Given the description of an element on the screen output the (x, y) to click on. 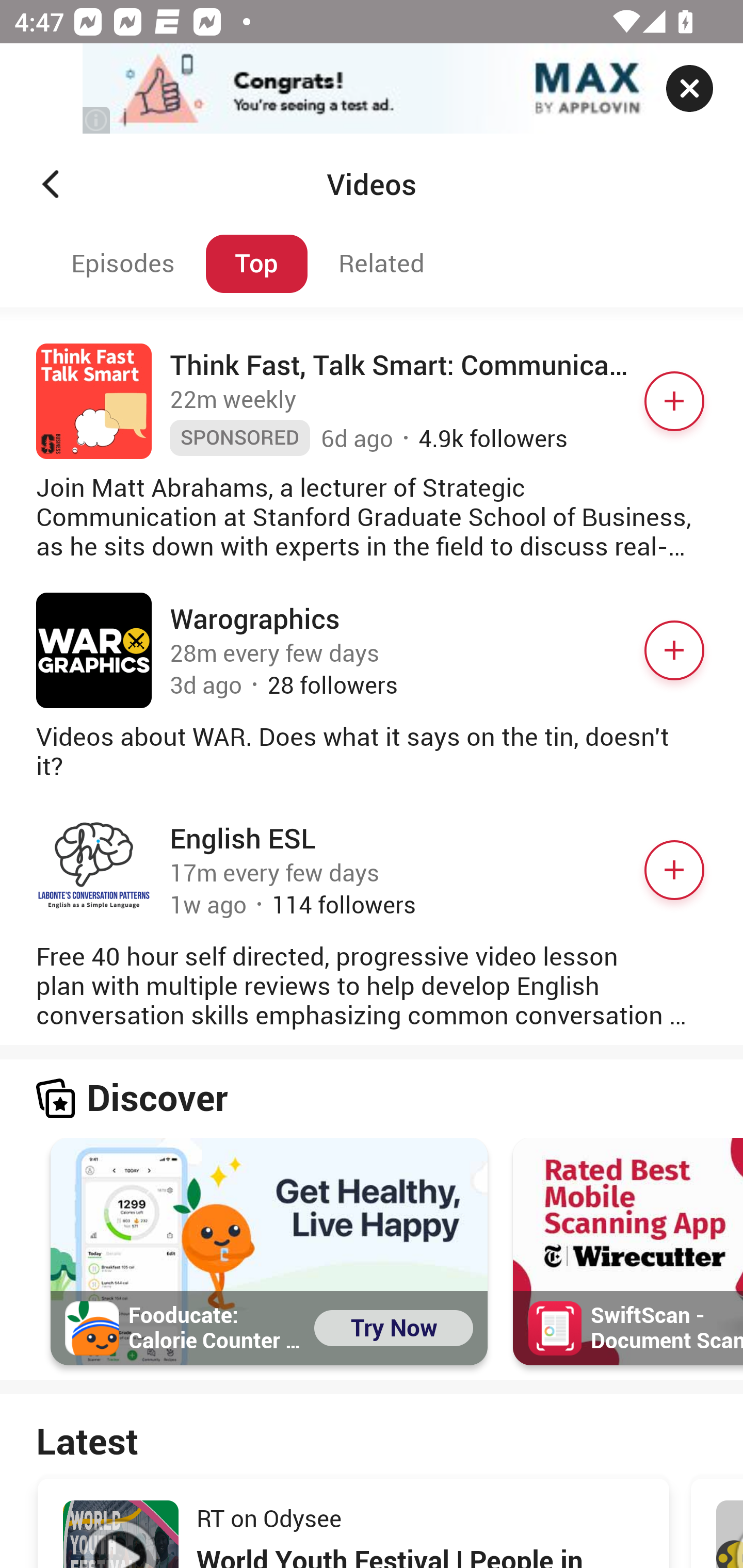
app-monetization (371, 88)
(i) (96, 119)
Navigate up (50, 184)
 Episodes (119, 264)
Top (256, 264)
Related (381, 264)
Subscribe button (673, 401)
Subscribe button (673, 650)
Subscribe button (673, 870)
Discover (371, 1098)
Fooducate: Calorie Counter & Diet Tracker Try Now (268, 1251)
SwiftScan - Document Scanner & PDF Editor (627, 1251)
Try Now (393, 1328)
Latest (371, 1439)
Play (120, 1534)
